Given the description of an element on the screen output the (x, y) to click on. 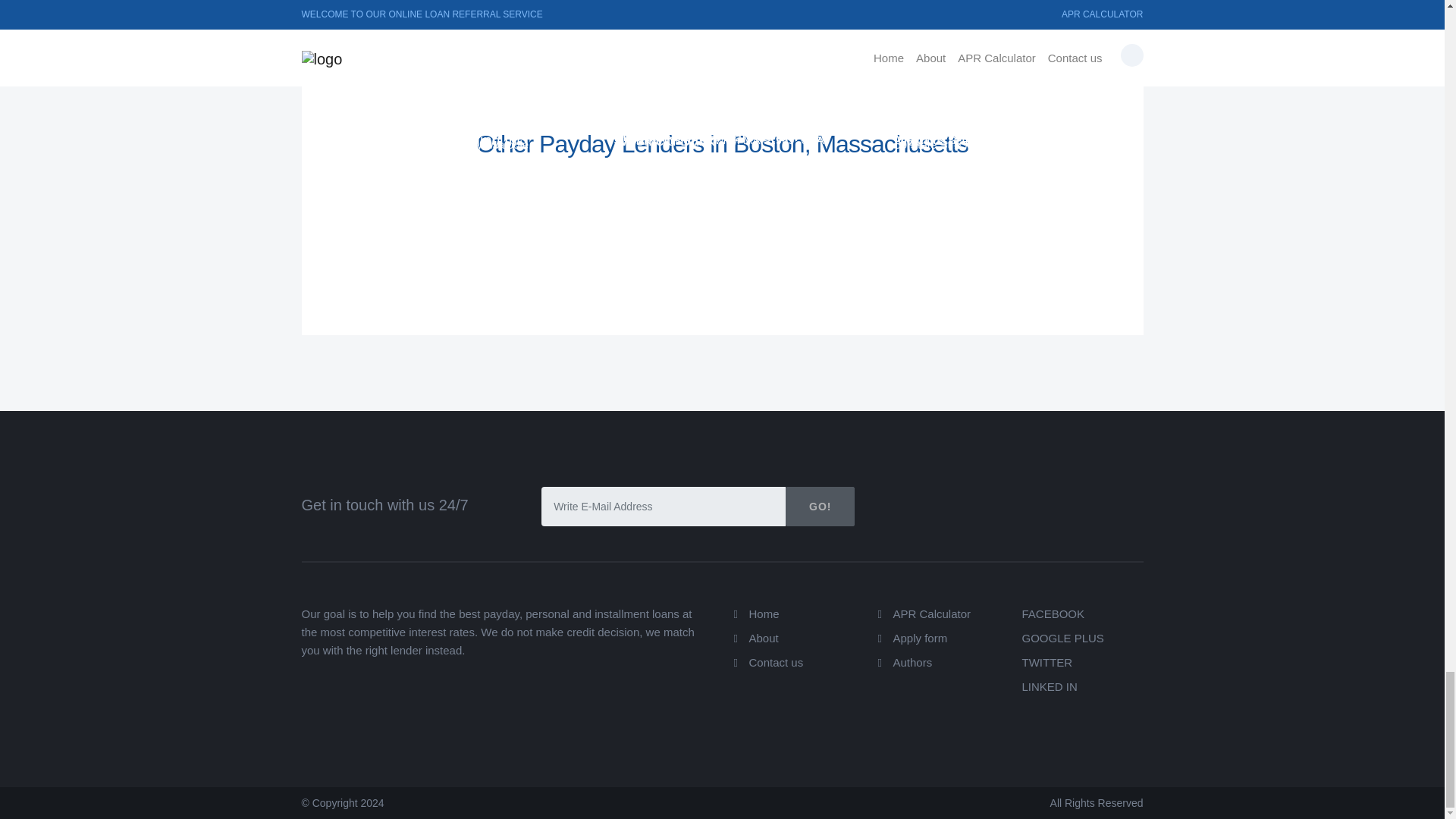
Westfield Bank (663, 139)
Home (763, 613)
Contact us (776, 662)
GO! (820, 506)
Metro Credit Union (957, 139)
APR Calculator (932, 613)
Salem Five Bank (670, 112)
FACEBOOK (1053, 613)
CIT Group Inc (940, 117)
About (763, 637)
Authors (913, 662)
GOOGLE PLUS (1062, 637)
Leominster Credit Union (975, 112)
Apply form (920, 637)
Coastal Heritage Bank (408, 94)
